Given the description of an element on the screen output the (x, y) to click on. 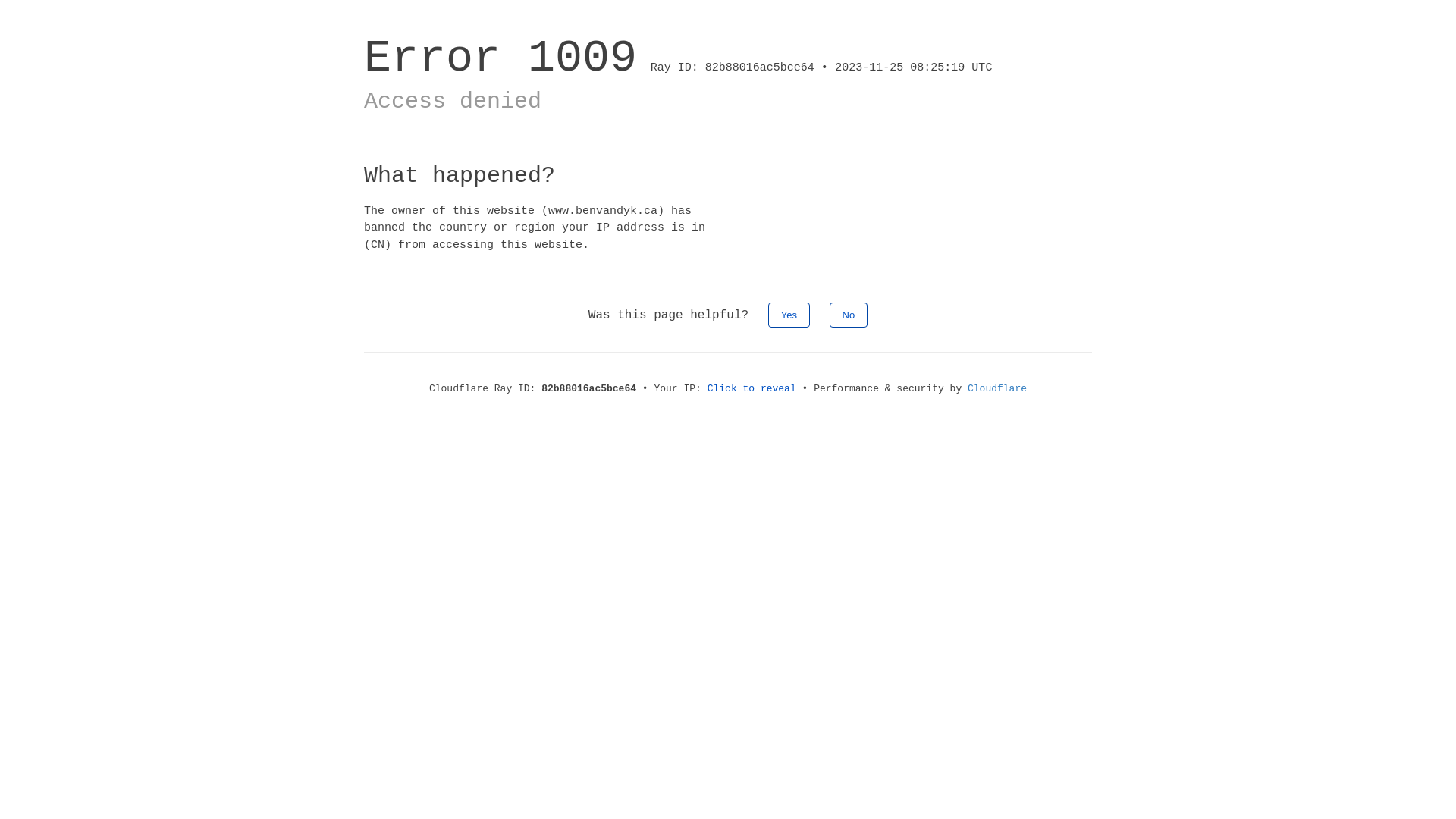
Cloudflare Element type: text (996, 388)
Click to reveal Element type: text (751, 388)
No Element type: text (848, 314)
Yes Element type: text (788, 314)
